Given the description of an element on the screen output the (x, y) to click on. 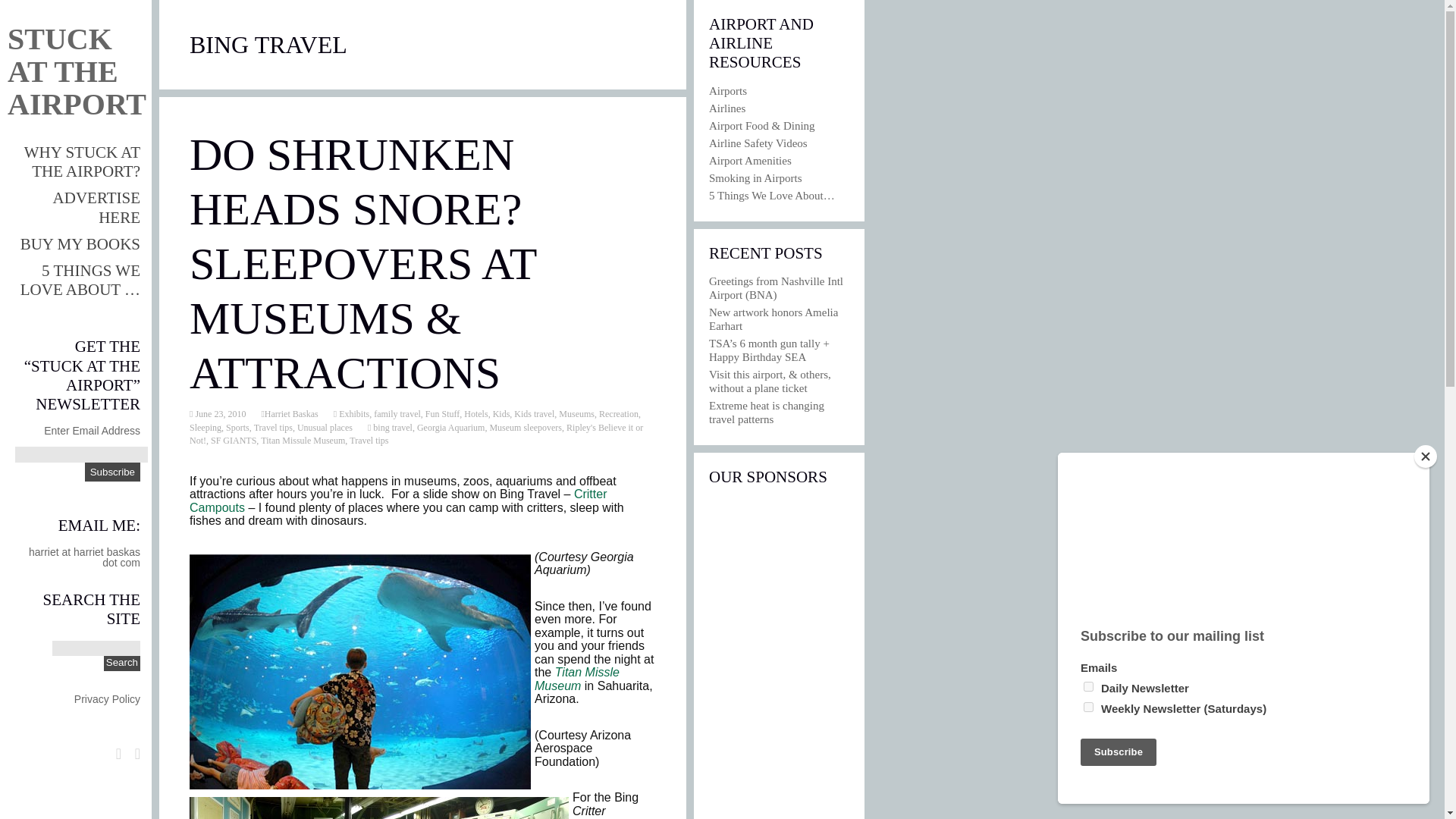
Exhibits (352, 413)
bing travel (391, 427)
Search (121, 663)
BUY MY BOOKS (79, 244)
June 23, 2010 (219, 413)
Fun Stuff (442, 413)
Privacy Policy (106, 698)
family travel (397, 413)
Airports (727, 91)
Kids (502, 413)
Georgia Aquarium (450, 427)
Titan Missle Museum (577, 678)
Unusual places (324, 427)
Travel tips (368, 439)
Advertisement (777, 658)
